Given the description of an element on the screen output the (x, y) to click on. 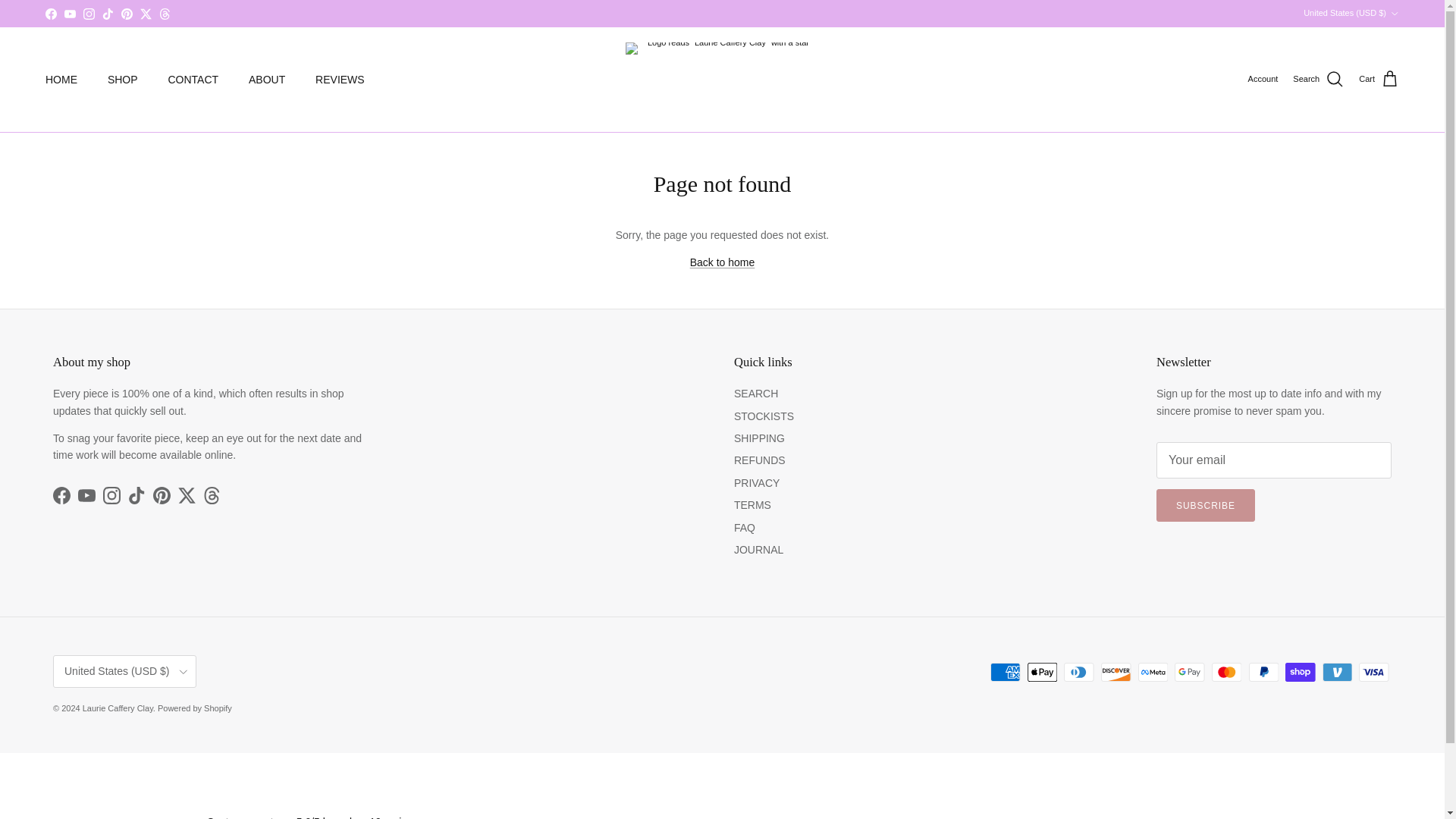
Twitter (186, 495)
Threads (164, 12)
Laurie Caffery Clay on Twitter (186, 495)
American Express (1005, 671)
Instagram (111, 495)
Instagram (88, 12)
TikTok (136, 495)
Facebook (50, 12)
Diners Club (1078, 671)
Laurie Caffery Clay on Instagram (111, 495)
